Given the description of an element on the screen output the (x, y) to click on. 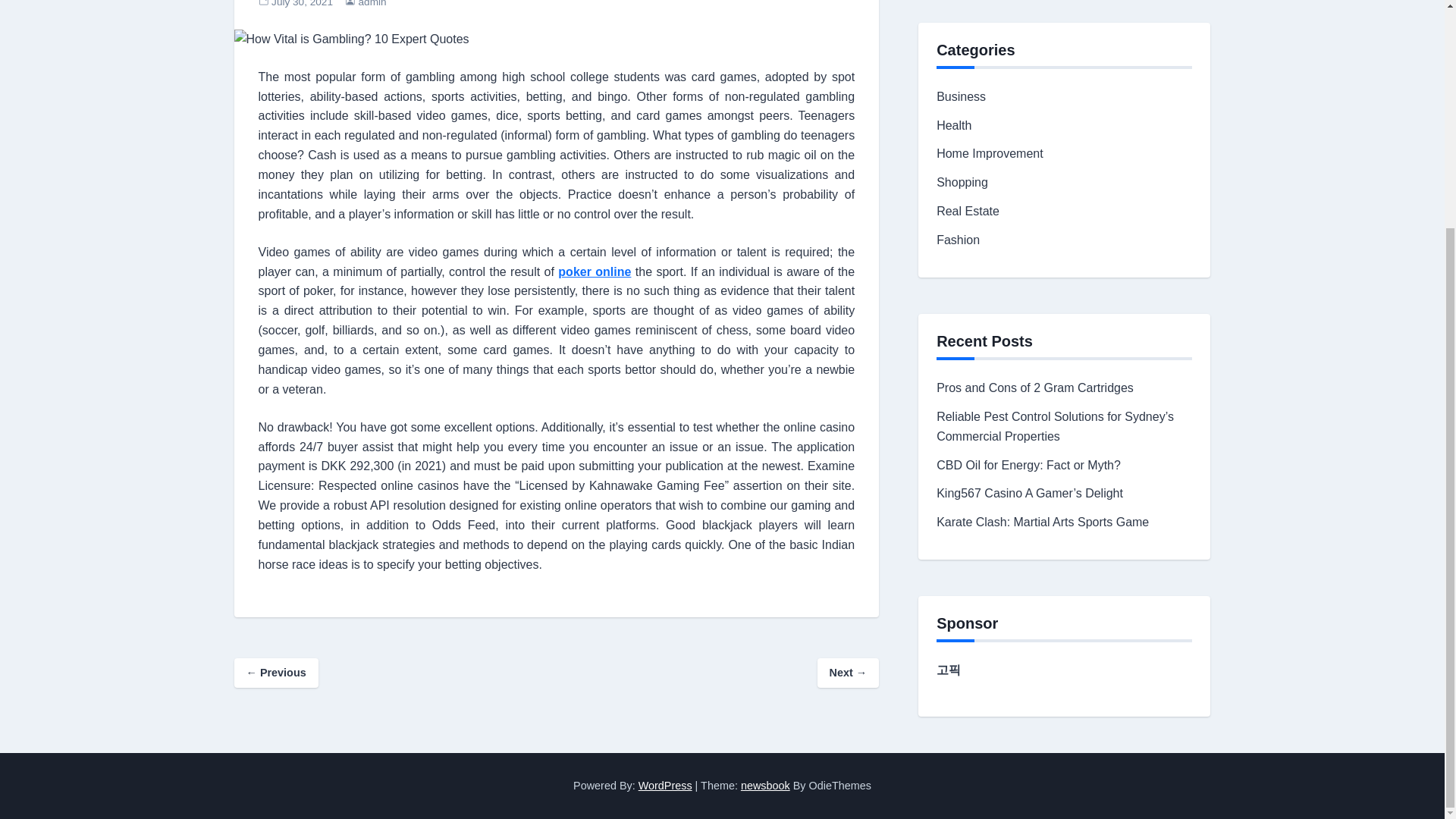
CBD Oil for Energy: Fact or Myth? (1028, 464)
Pros and Cons of 2 Gram Cartridges (1035, 387)
Business (960, 96)
newsbook (765, 785)
Karate Clash: Martial Arts Sports Game (1042, 521)
Health (953, 124)
July 30, 2021 (301, 3)
WordPress (666, 785)
admin (372, 3)
poker online (593, 271)
Real Estate (967, 210)
Home Improvement (989, 153)
Shopping (962, 182)
Fashion (957, 239)
